Given the description of an element on the screen output the (x, y) to click on. 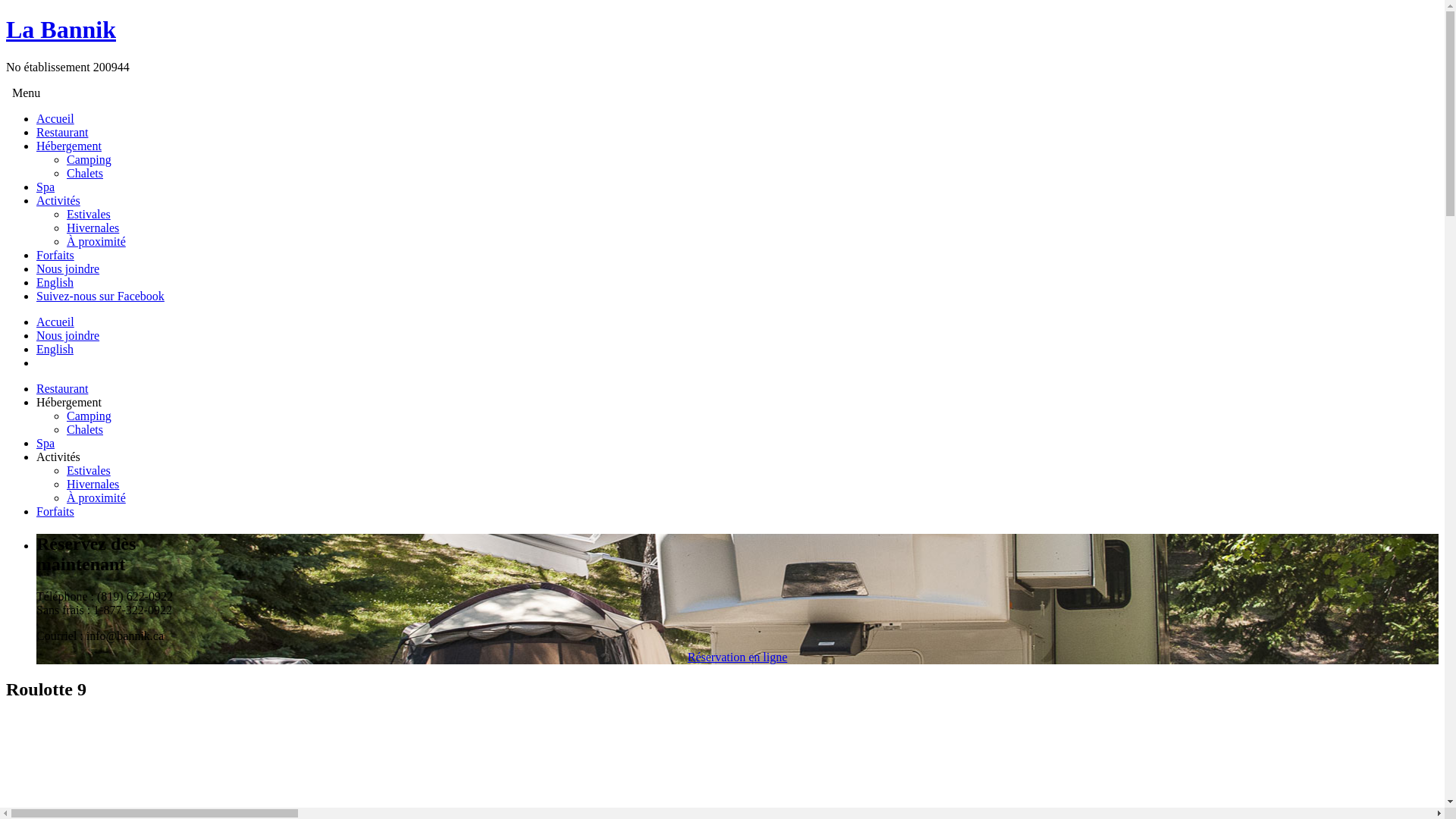
Restaurant Element type: text (61, 131)
Hivernales Element type: text (92, 227)
Chalets Element type: text (84, 429)
Forfaits Element type: text (55, 511)
Camping Element type: text (88, 159)
Nous joindre Element type: text (67, 268)
La Bannik Element type: text (61, 29)
Spa Element type: text (45, 442)
Accueil Element type: text (55, 321)
Forfaits Element type: text (55, 254)
Hivernales Element type: text (92, 483)
Nous joindre Element type: text (67, 335)
Accueil Element type: text (55, 118)
Estivales Element type: text (88, 213)
English Element type: text (54, 282)
Camping Element type: text (88, 415)
Chalets Element type: text (84, 172)
Suivez-nous sur Facebook Element type: text (100, 295)
English Element type: text (54, 348)
Restaurant Element type: text (61, 388)
Spa Element type: text (45, 186)
Estivales Element type: text (88, 470)
